Given the description of an element on the screen output the (x, y) to click on. 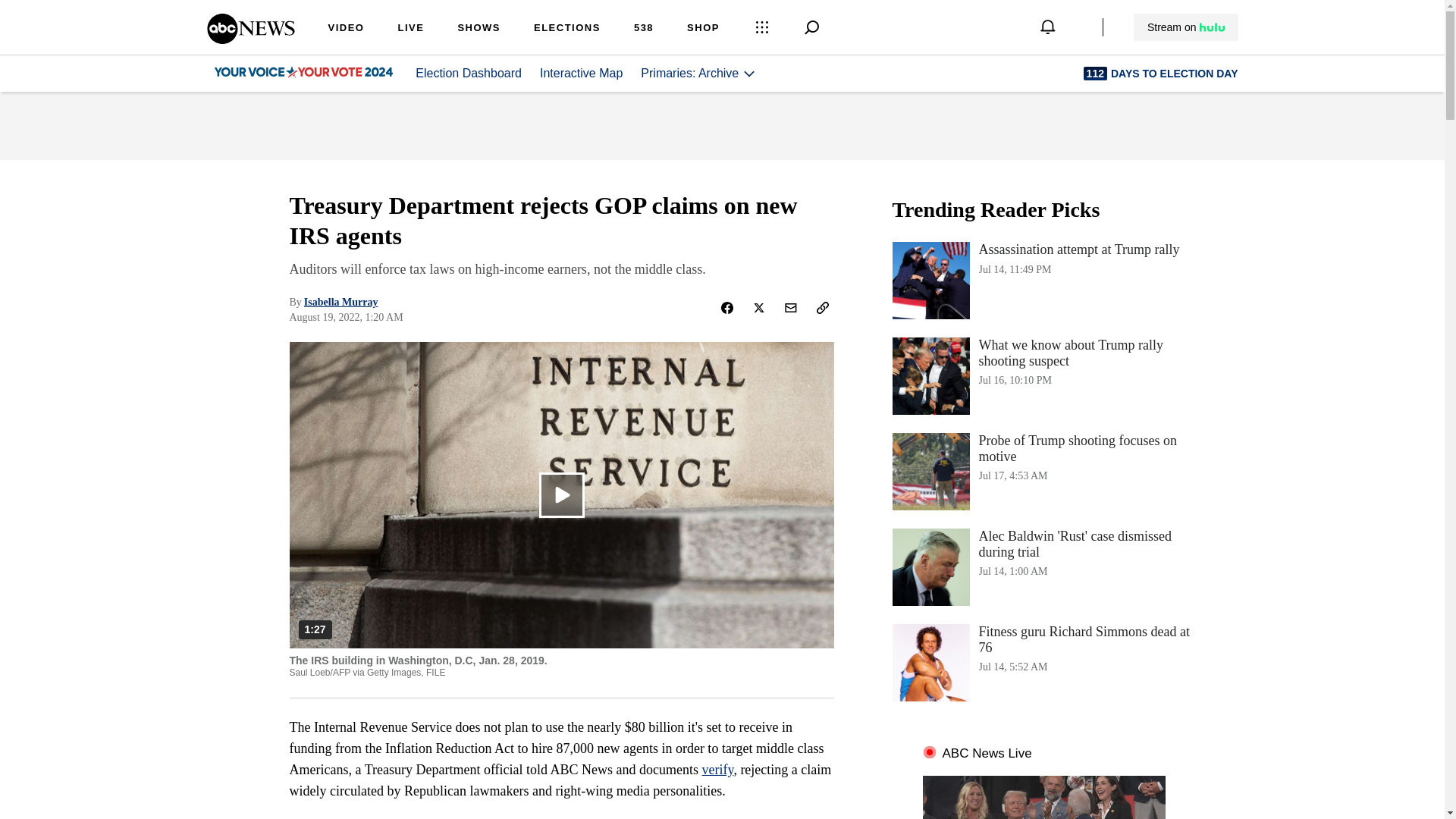
Interactive Map (581, 73)
verify (717, 769)
Election Dashboard (467, 73)
SHOP (703, 28)
Stream on (1185, 27)
Primaries: Archive (698, 73)
VIDEO (345, 28)
Isabella Murray (341, 301)
ELECTIONS (566, 28)
538 (643, 28)
ABC News (250, 38)
SHOWS (478, 28)
Stream on (1186, 26)
LIVE (410, 28)
